Given the description of an element on the screen output the (x, y) to click on. 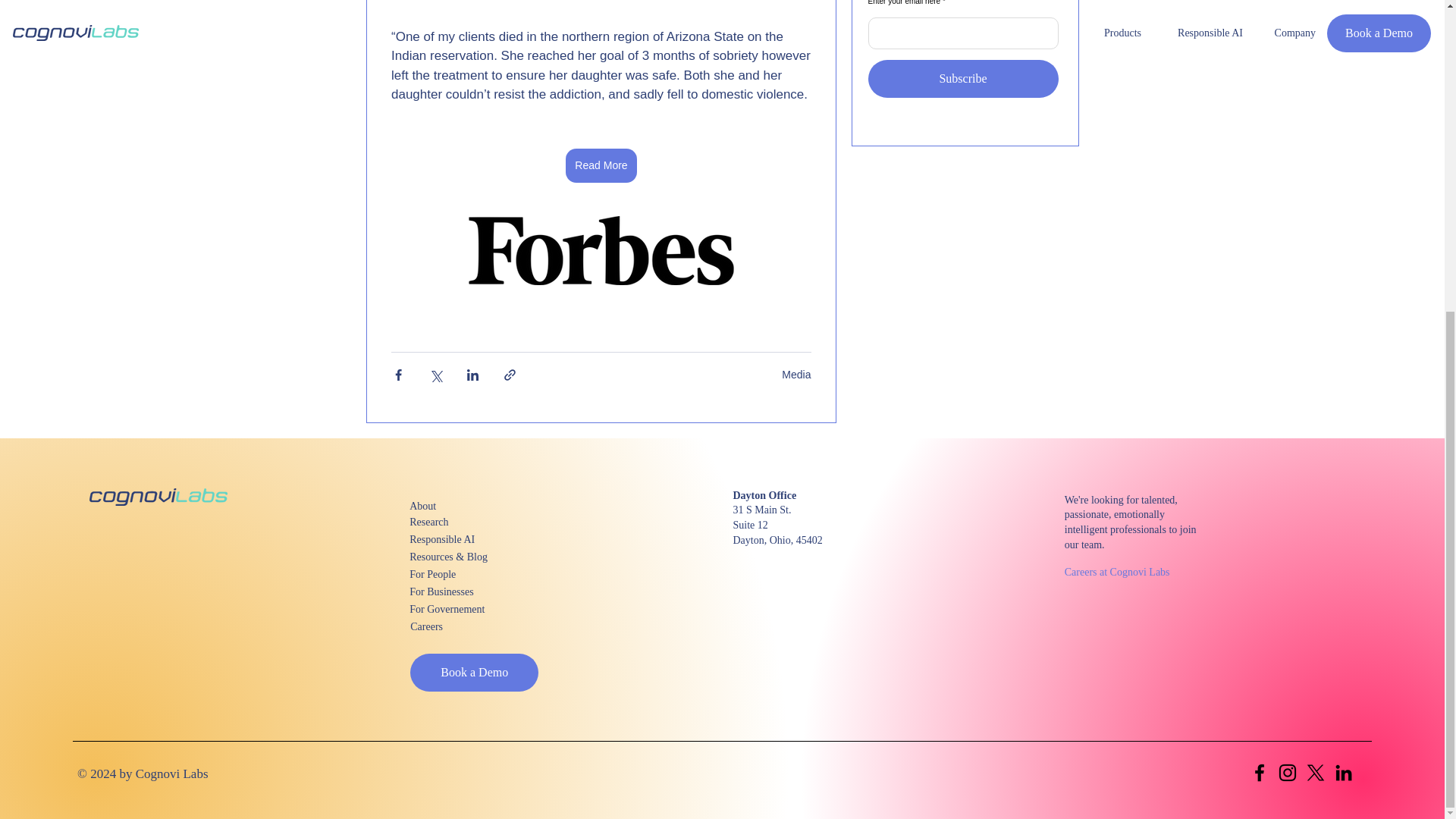
Media (795, 374)
Book a Demo (474, 672)
Responsible AI (463, 538)
For Governement (463, 609)
Careers at Cognovi Labs (1118, 571)
For Businesses (463, 591)
Research (463, 521)
Read More (601, 165)
Subscribe (962, 78)
About (463, 506)
